Given the description of an element on the screen output the (x, y) to click on. 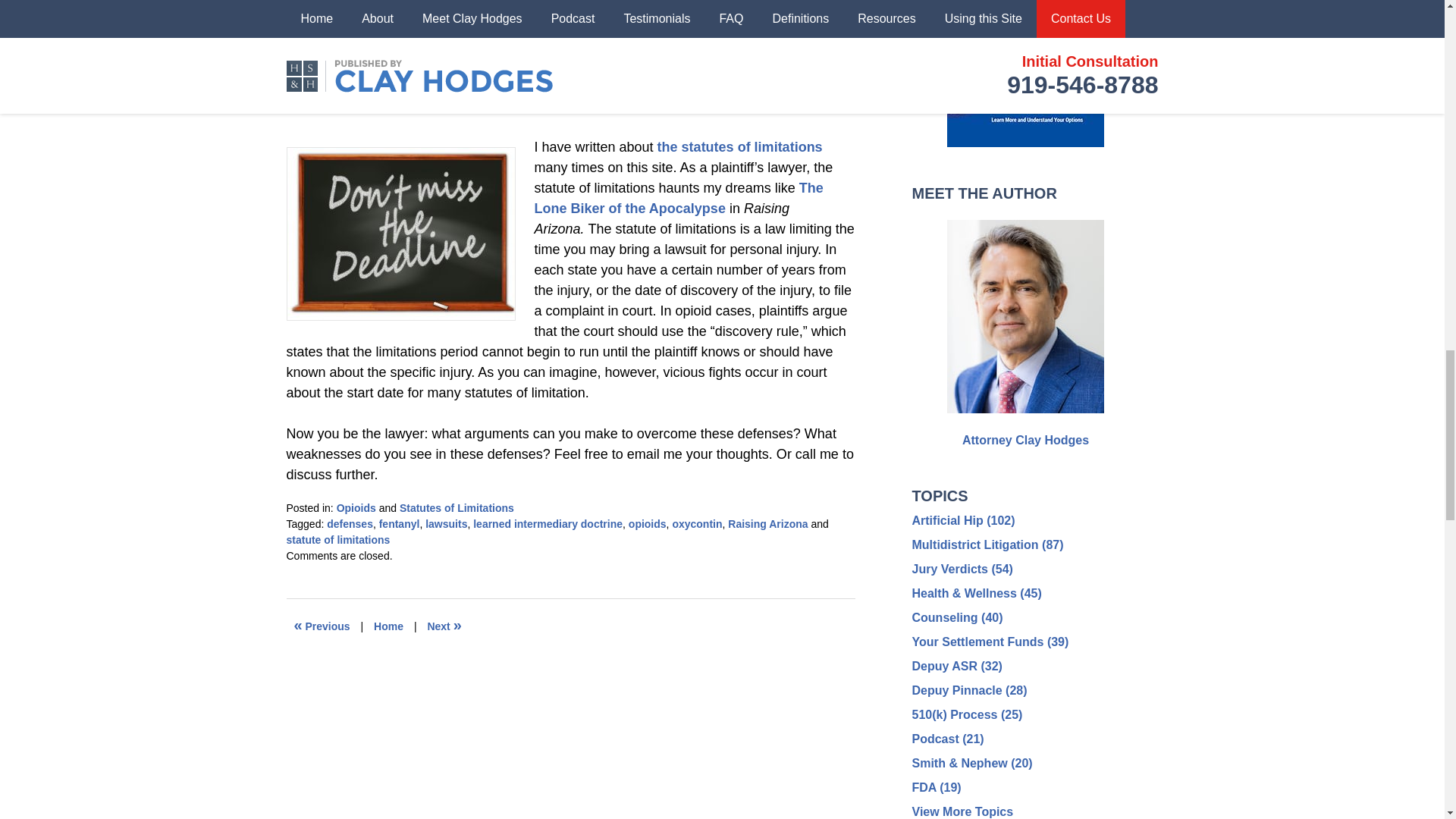
View all posts tagged with Raising Arizona (768, 523)
View all posts tagged with opioids (647, 523)
lawsuits (446, 523)
Statutes of Limitations (455, 508)
Opioids: Lawsuits Filed by Individual Victims Taking Shape (443, 625)
View all posts in Statutes of Limitations (455, 508)
fentanyl (399, 523)
View all posts tagged with statute of limitations (338, 539)
View all posts tagged with oxycontin (696, 523)
Opioids (355, 508)
View all posts tagged with fentanyl (399, 523)
defenses (349, 523)
View all posts tagged with defenses (349, 523)
View all posts tagged with learned intermediary doctrine (548, 523)
